Given the description of an element on the screen output the (x, y) to click on. 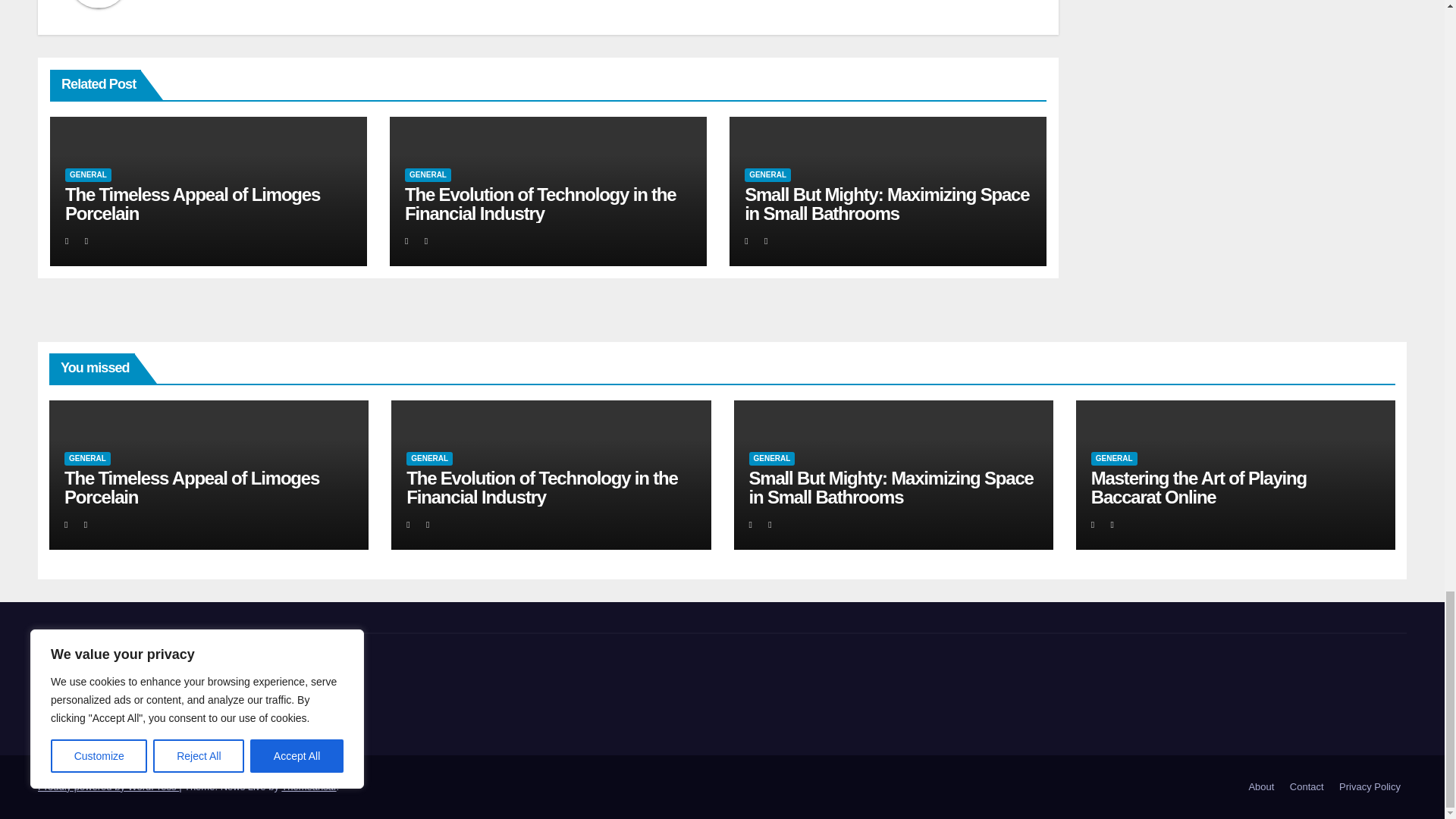
Contact (1307, 786)
About (1260, 786)
Privacy Policy (1369, 786)
Permalink to: Mastering the Art of Playing Baccarat Online (1198, 486)
Permalink to: The Timeless Appeal of Limoges Porcelain (192, 203)
Permalink to: The Timeless Appeal of Limoges Porcelain (191, 486)
